Given the description of an element on the screen output the (x, y) to click on. 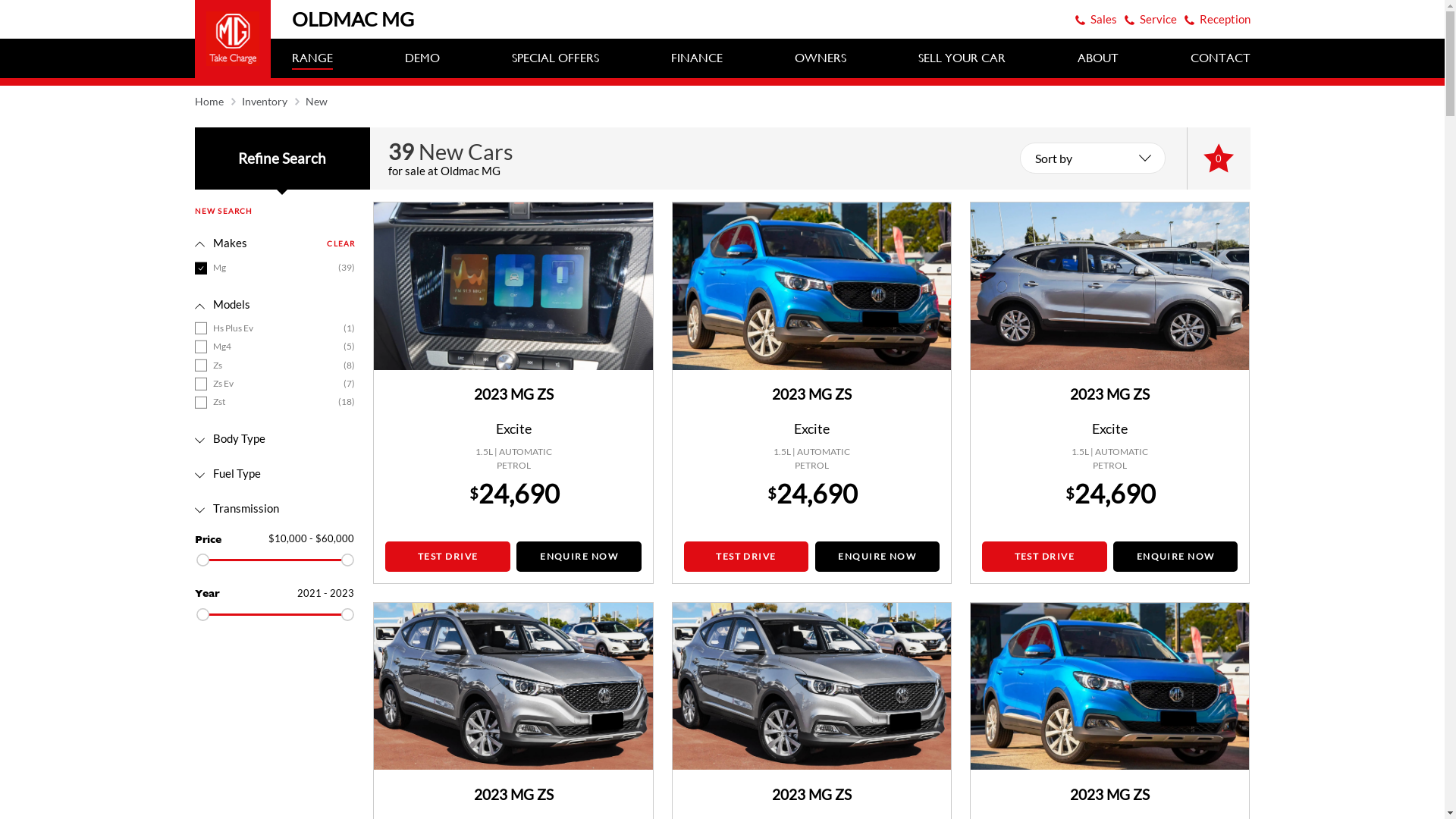
Home Element type: text (208, 100)
TEST DRIVE Element type: text (1044, 556)
SELL YOUR CAR Element type: text (960, 58)
New Element type: text (315, 100)
Reception Element type: text (1224, 18)
OWNERS Element type: text (820, 58)
2023 MG ZS Element type: text (1109, 794)
TEST DRIVE Element type: text (447, 556)
ENQUIRE NOW Element type: text (578, 556)
2023 MG ZS Element type: text (811, 794)
ABOUT Element type: text (1096, 58)
Body Type Element type: text (229, 438)
TEST DRIVE Element type: text (746, 556)
Inventory Element type: text (263, 100)
2023 MG ZS Element type: text (1109, 393)
Service Element type: text (1157, 18)
2023 MG ZS Element type: text (811, 393)
SPECIAL OFFERS Element type: text (554, 58)
NEW SEARCH Element type: text (223, 210)
Sales Element type: text (1103, 18)
ENQUIRE NOW Element type: text (1175, 556)
ENQUIRE NOW Element type: text (877, 556)
RANGE Element type: text (311, 58)
CLEAR Element type: text (340, 243)
CONTACT Element type: text (1220, 58)
Transmission Element type: text (236, 508)
OLDMAC MG Element type: text (303, 19)
FINANCE Element type: text (696, 58)
2023 MG ZS Element type: text (513, 794)
2023 MG ZS Element type: text (513, 393)
Makes Element type: text (220, 242)
0 Element type: text (1218, 158)
Models Element type: text (221, 304)
DEMO Element type: text (421, 58)
Fuel Type Element type: text (227, 473)
